Given the description of an element on the screen output the (x, y) to click on. 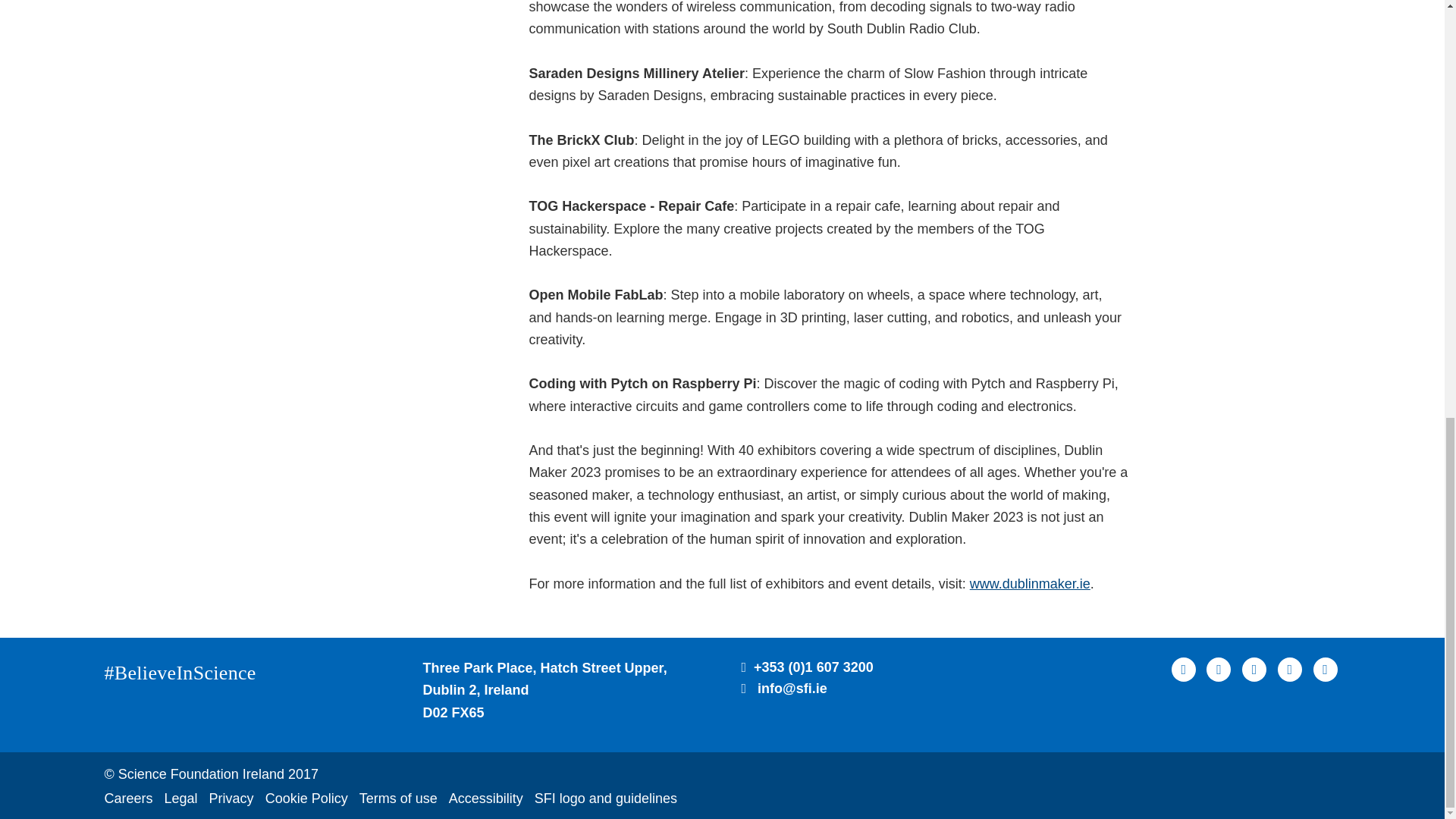
Visit SFI on LinkedIn (1253, 669)
Visit SFI on Facebook (1183, 669)
Visit SFI on YouTube (1289, 669)
Visit SFI on Twitter (1218, 669)
Visit SFI on Instagram (1325, 669)
